Given the description of an element on the screen output the (x, y) to click on. 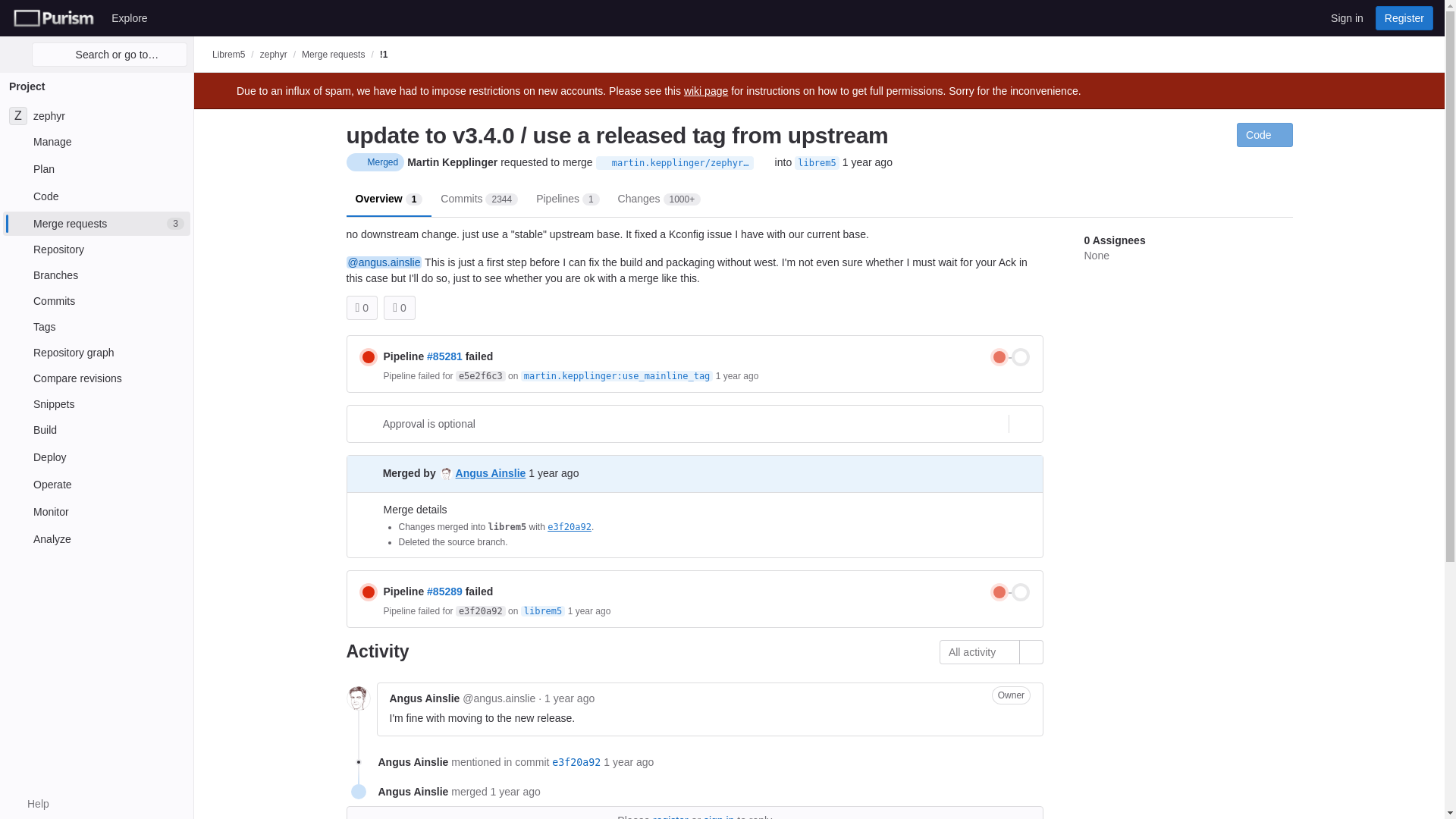
Repository graph (96, 352)
Build (96, 429)
librem5 (817, 162)
Explore (128, 17)
Branches (96, 274)
Repository (96, 115)
Compare revisions (96, 249)
Failed (96, 378)
Homepage (368, 356)
Deploy (53, 17)
Plan (96, 457)
The source project is a fork (96, 168)
Monitor (604, 163)
Sign in (96, 511)
